Given the description of an element on the screen output the (x, y) to click on. 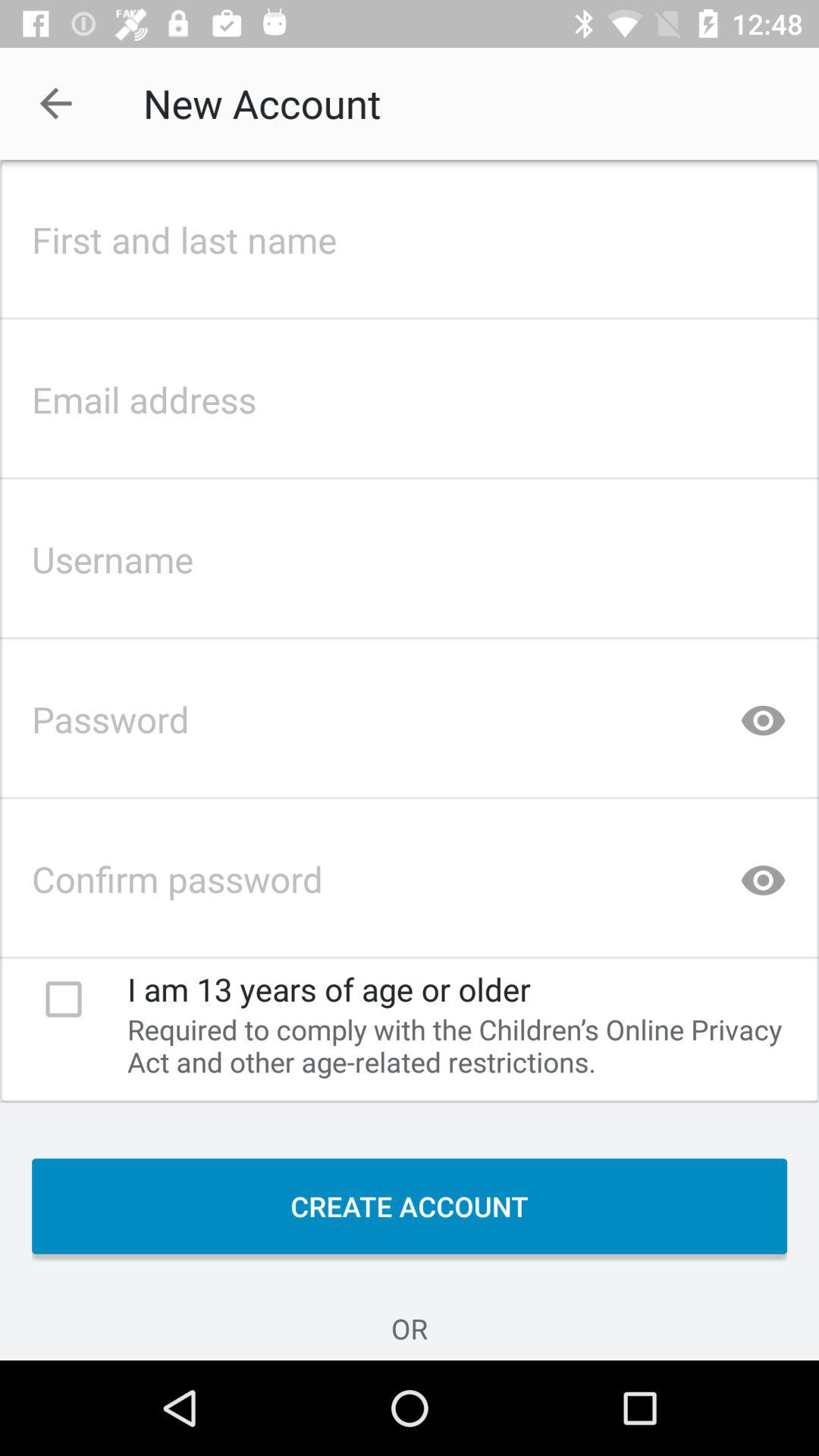
shows eye icon (763, 714)
